Given the description of an element on the screen output the (x, y) to click on. 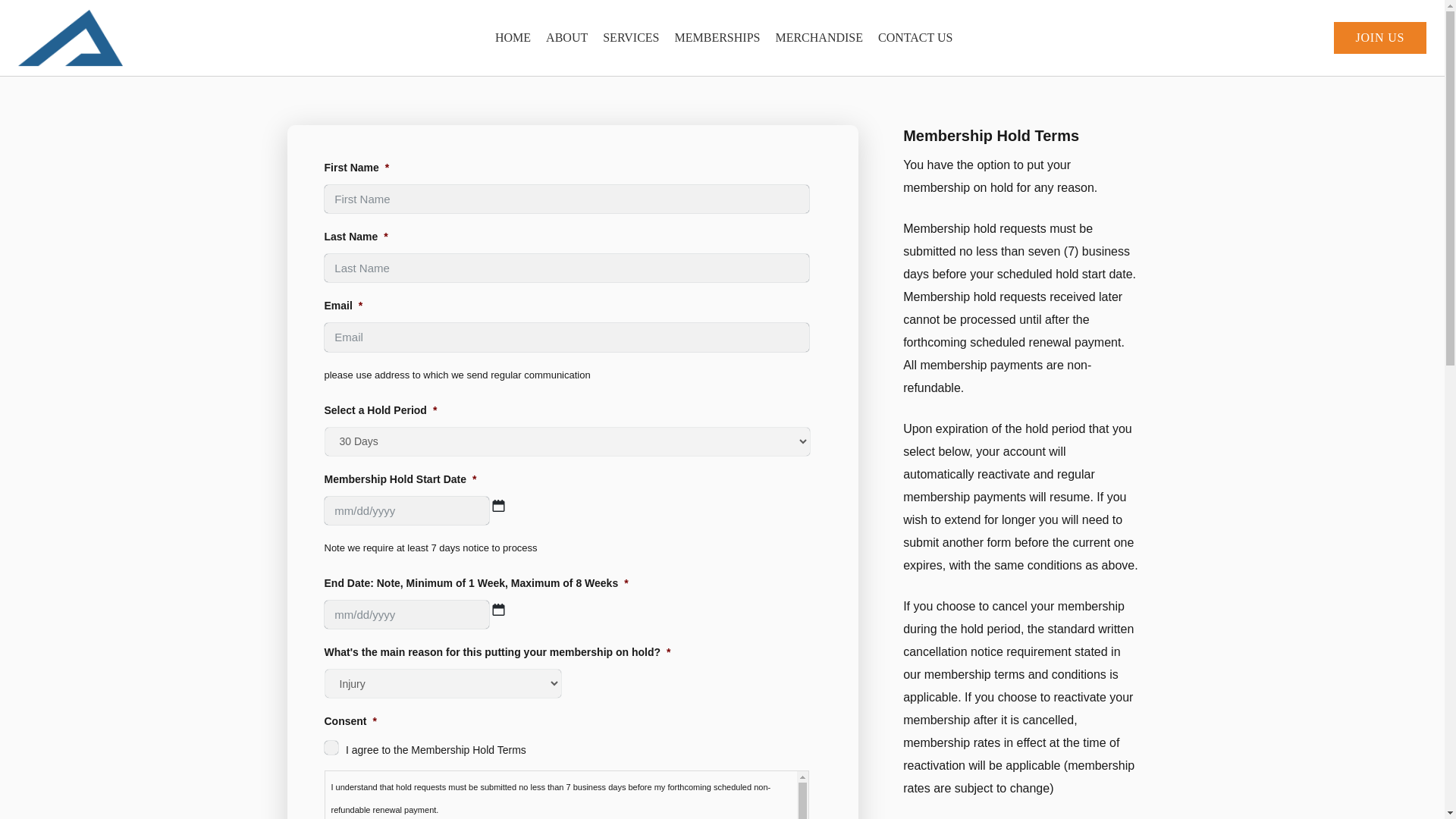
MEMBERSHIPS (717, 38)
Select date (498, 505)
Select date (498, 609)
JOIN US (1379, 38)
SERVICES (630, 38)
CONTACT US (914, 38)
MERCHANDISE (818, 38)
1 (330, 747)
